Given the description of an element on the screen output the (x, y) to click on. 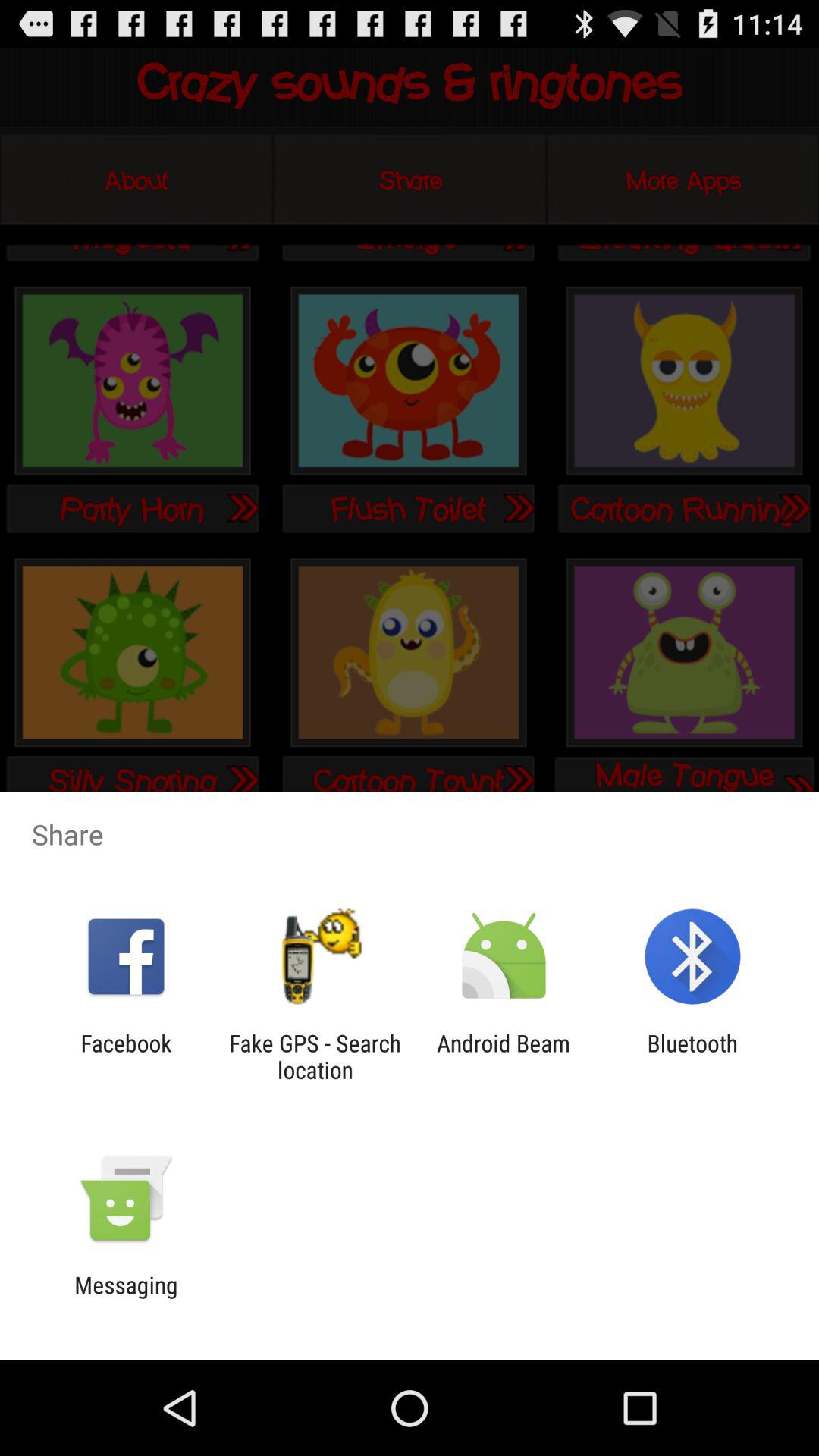
swipe until messaging icon (126, 1298)
